Given the description of an element on the screen output the (x, y) to click on. 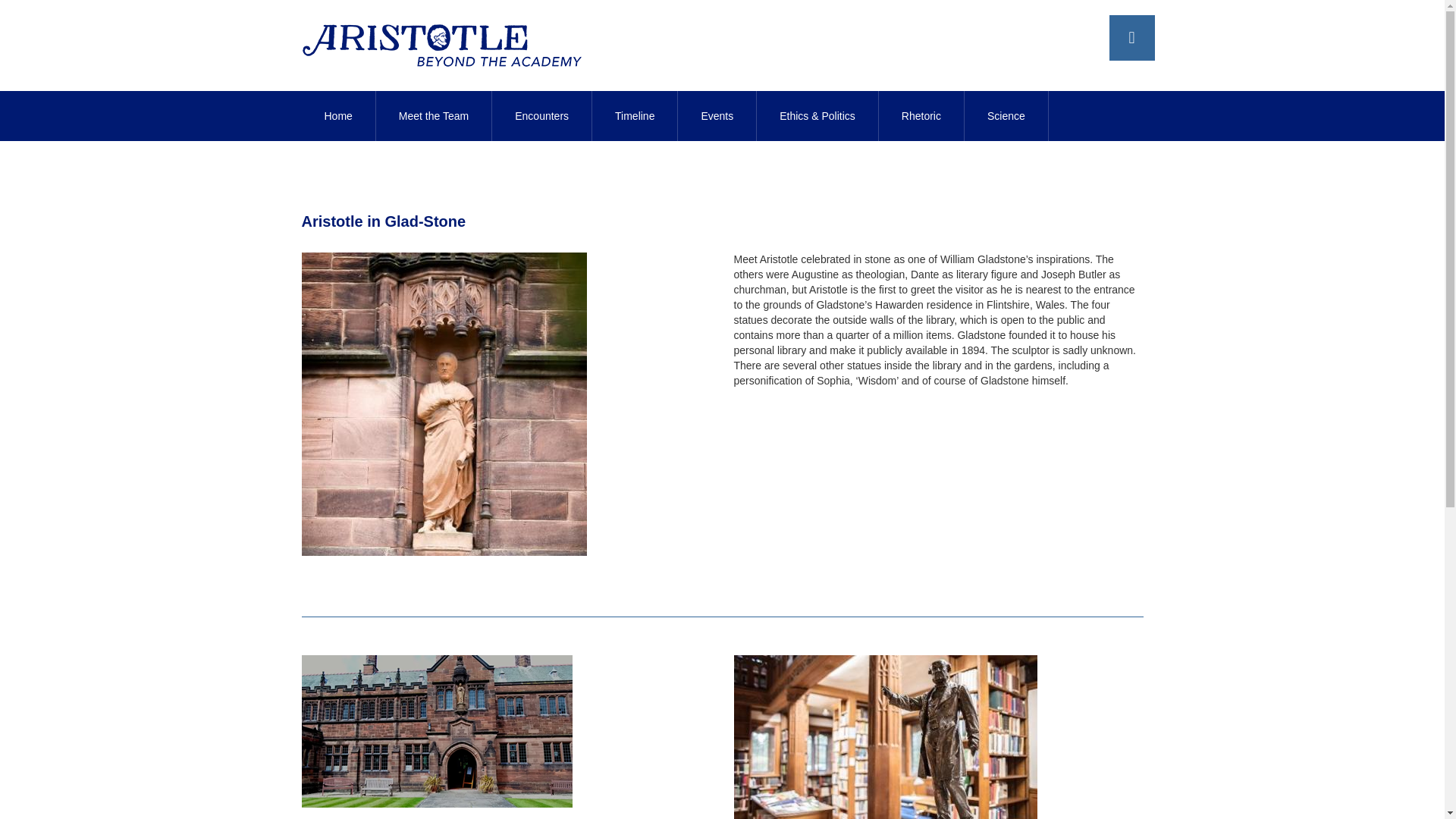
Science (1005, 115)
Timeline (635, 115)
Encounters (542, 115)
Events (717, 115)
Search (1141, 74)
Home (338, 115)
Meet the Team (433, 115)
Search (1141, 74)
Rhetoric (921, 115)
